Given the description of an element on the screen output the (x, y) to click on. 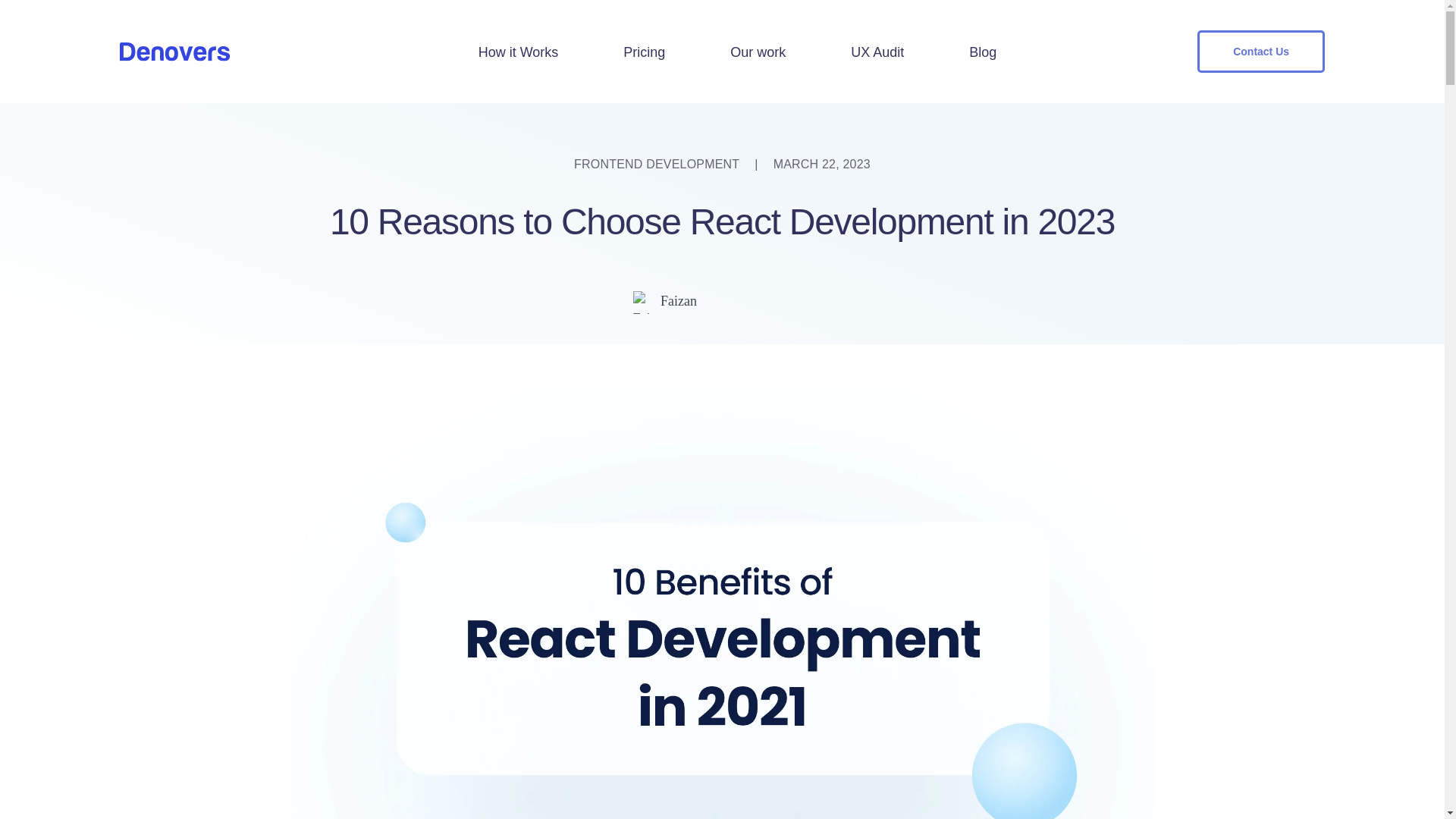
Pricing (644, 51)
UX Audit (877, 51)
How it Works (519, 51)
FRONTEND DEVELOPMENT (656, 164)
Contact Us (1260, 51)
Blog (982, 51)
Faizan (679, 300)
Our work (758, 51)
Contact Us (1260, 51)
Faizan (679, 300)
